Given the description of an element on the screen output the (x, y) to click on. 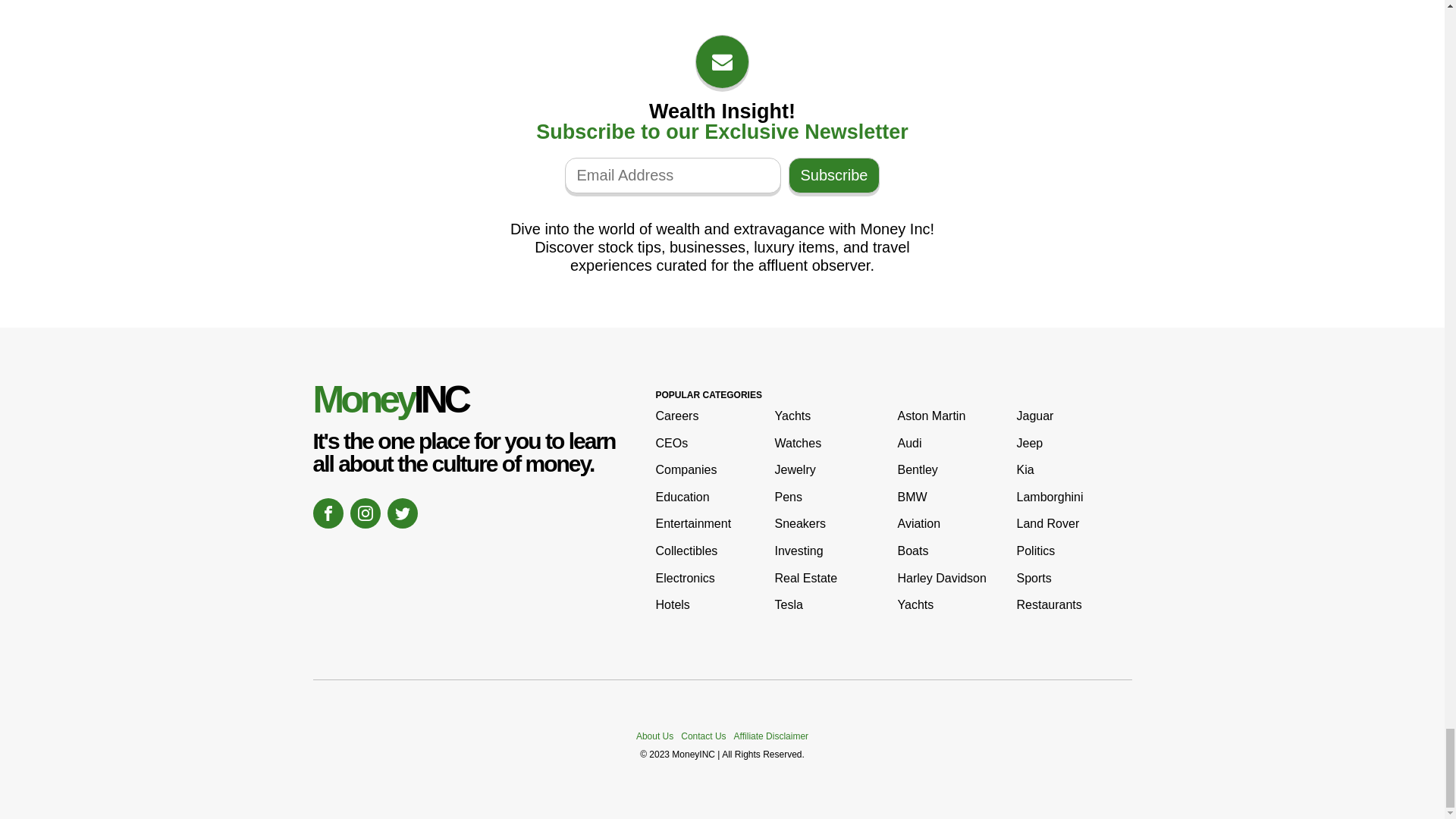
Subscribe (834, 175)
